Given the description of an element on the screen output the (x, y) to click on. 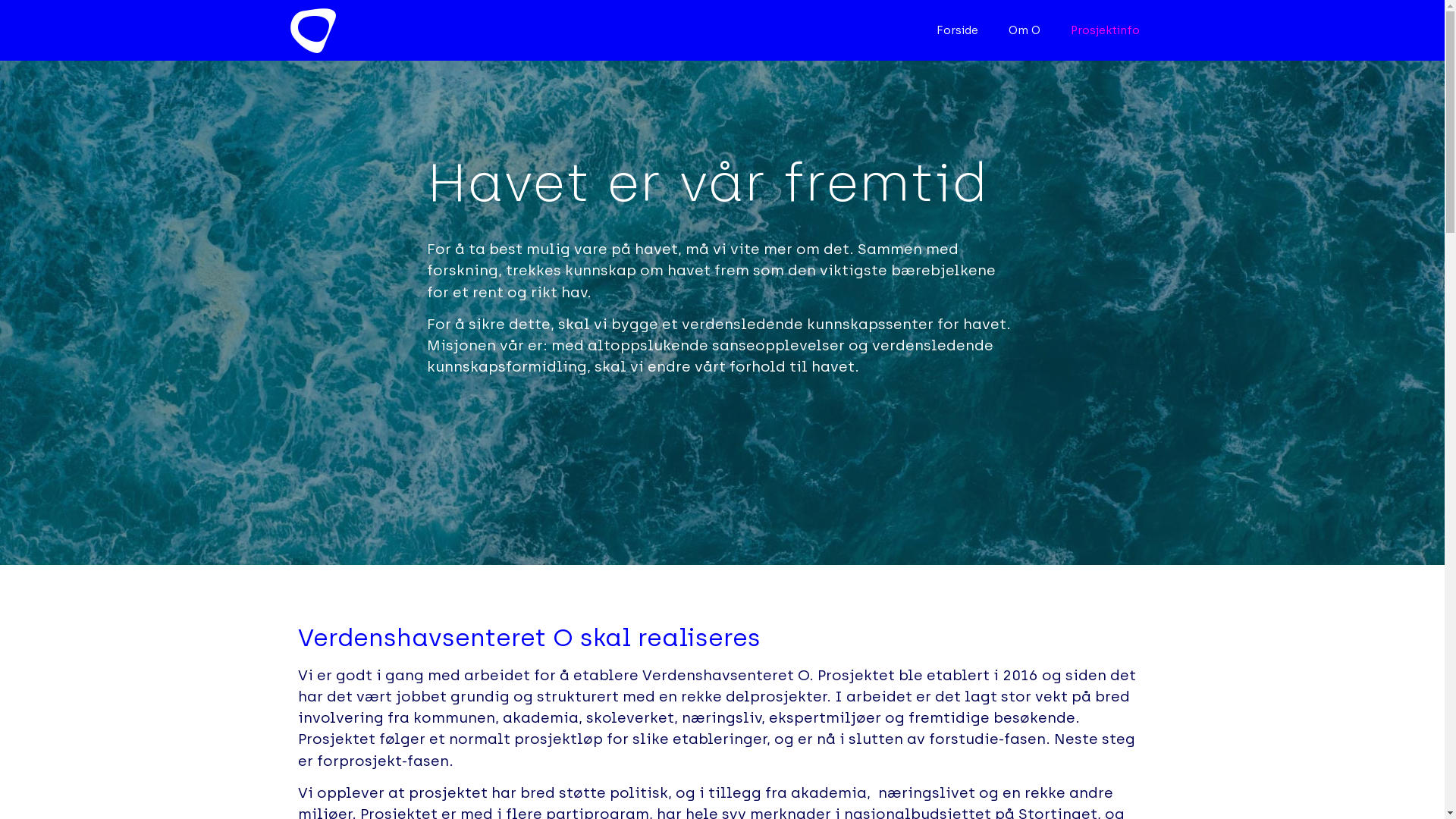
Om O Element type: text (1024, 30)
Forside Element type: text (956, 30)
O_sjablonger_A1_512X512_NY Element type: hover (312, 30)
Prosjektinfo Element type: text (1104, 30)
